Given the description of an element on the screen output the (x, y) to click on. 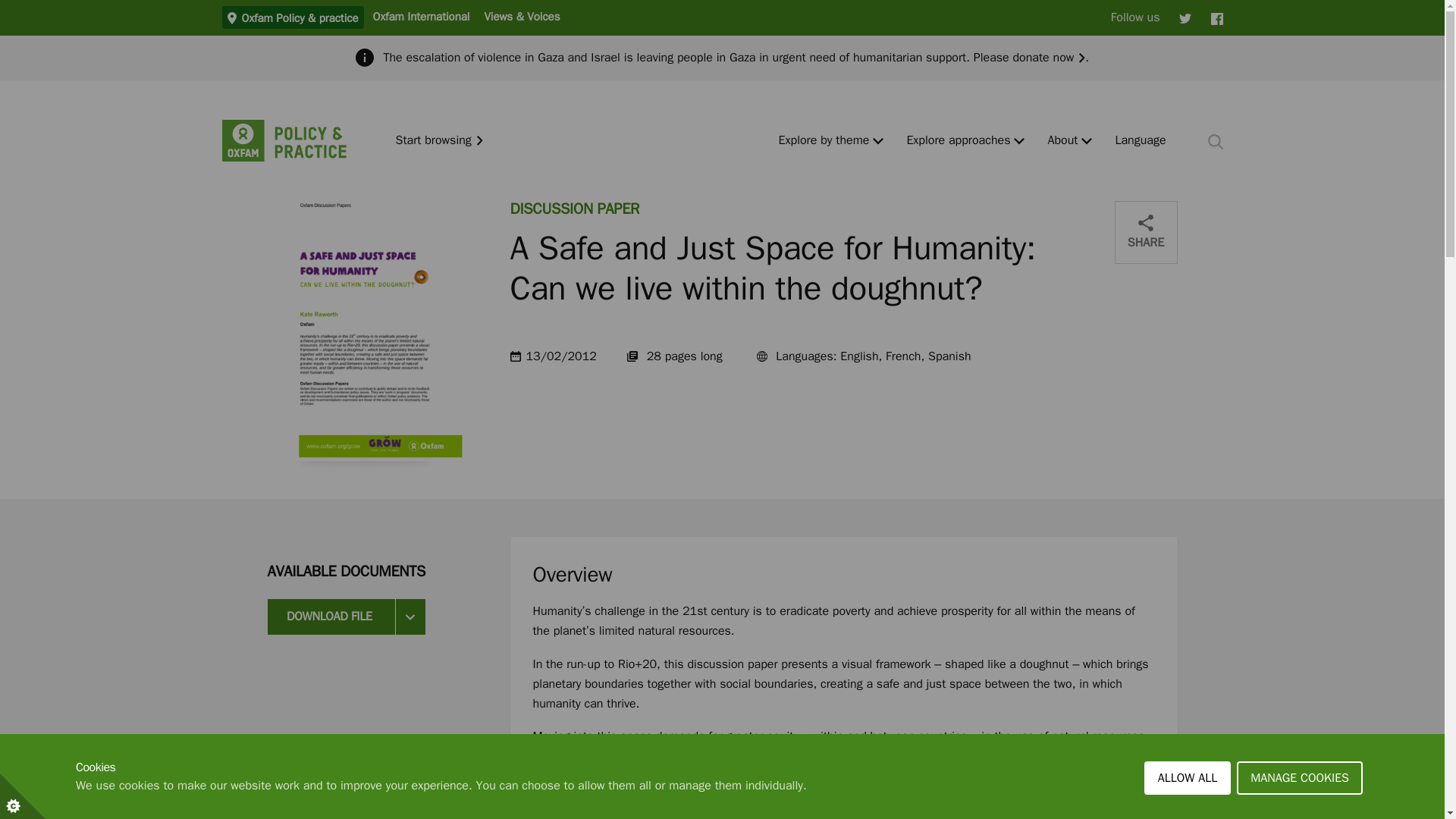
Menu toggle (1019, 141)
Oxfam International (420, 16)
Start browsing (439, 140)
Explore by theme (823, 140)
About (1061, 140)
donate now (1047, 57)
Skip to content (11, 5)
Twitter (1184, 17)
Search (1215, 140)
Explore approaches (957, 140)
